Given the description of an element on the screen output the (x, y) to click on. 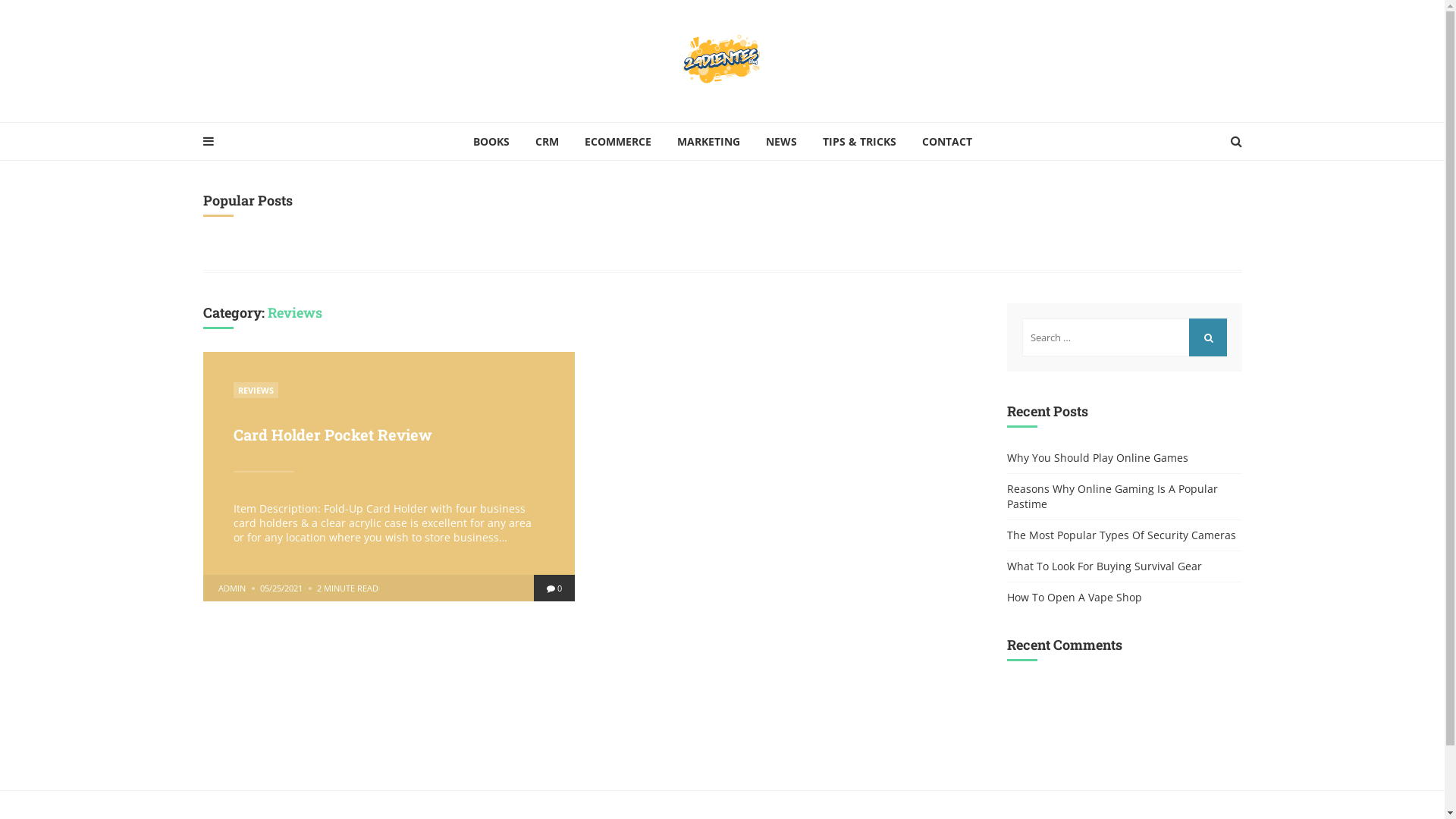
REVIEWS Element type: text (255, 389)
How To Open A Vape Shop Element type: text (1074, 597)
CONTACT Element type: text (946, 141)
Card Holder Pocket Review Element type: text (332, 434)
MARKETING Element type: text (708, 141)
BOOKS Element type: text (490, 141)
The Most Popular Types Of Security Cameras Element type: text (1121, 534)
CRM Element type: text (546, 141)
ADMIN Element type: text (231, 587)
ECOMMERCE Element type: text (617, 141)
SEARCH Element type: text (1207, 337)
What To Look For Buying Survival Gear Element type: text (1104, 565)
TIPS & TRICKS Element type: text (859, 141)
Reasons Why Online Gaming Is A Popular Pastime Element type: text (1122, 495)
NEWS Element type: text (780, 141)
Why You Should Play Online Games Element type: text (1097, 457)
